Given the description of an element on the screen output the (x, y) to click on. 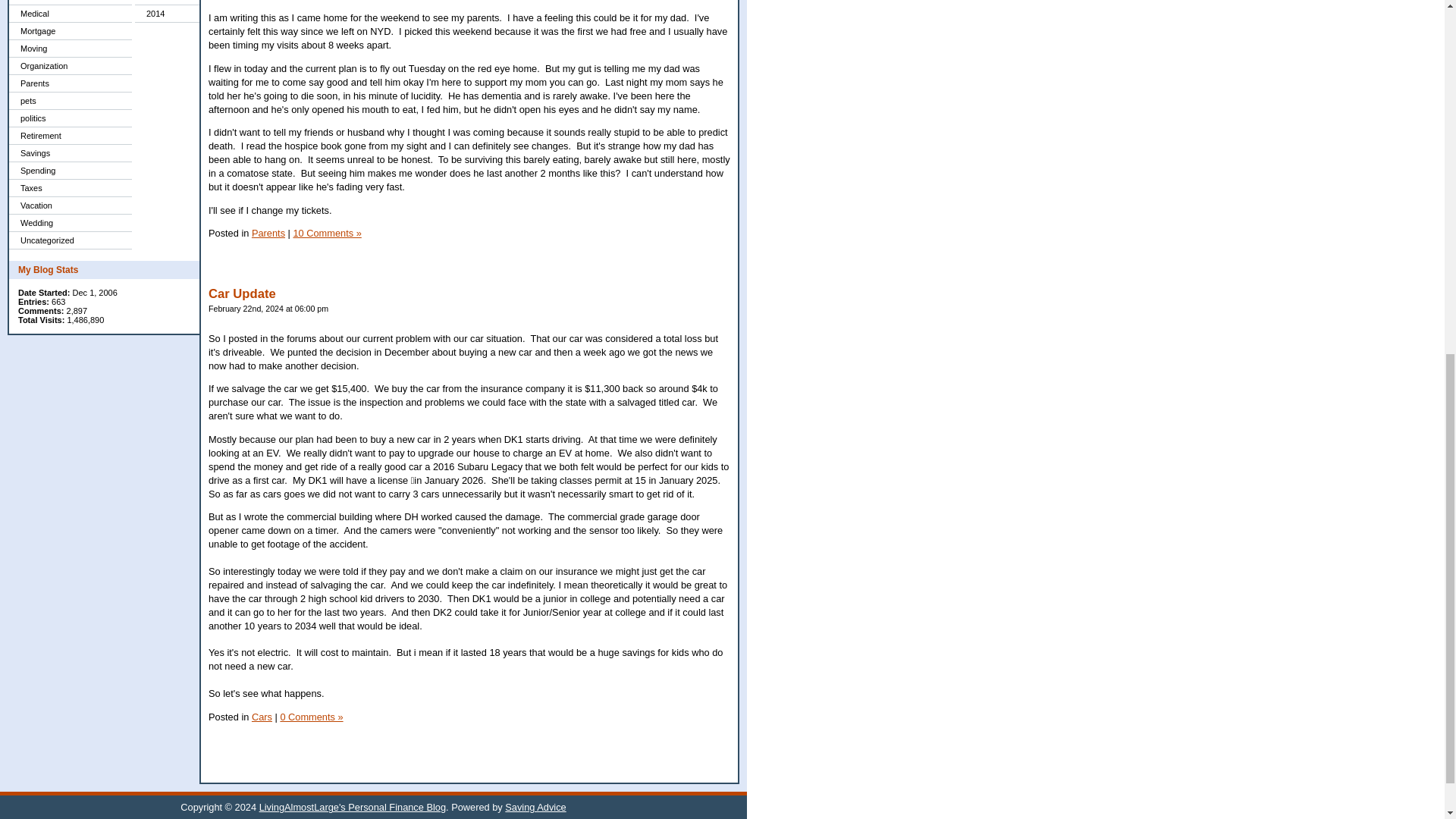
Kids (70, 2)
pets (70, 100)
Wedding (70, 222)
Parents (70, 83)
Medical (70, 13)
Vacation (70, 205)
Uncategorized (70, 240)
politics (70, 118)
Taxes (70, 188)
Moving (70, 48)
